Given the description of an element on the screen output the (x, y) to click on. 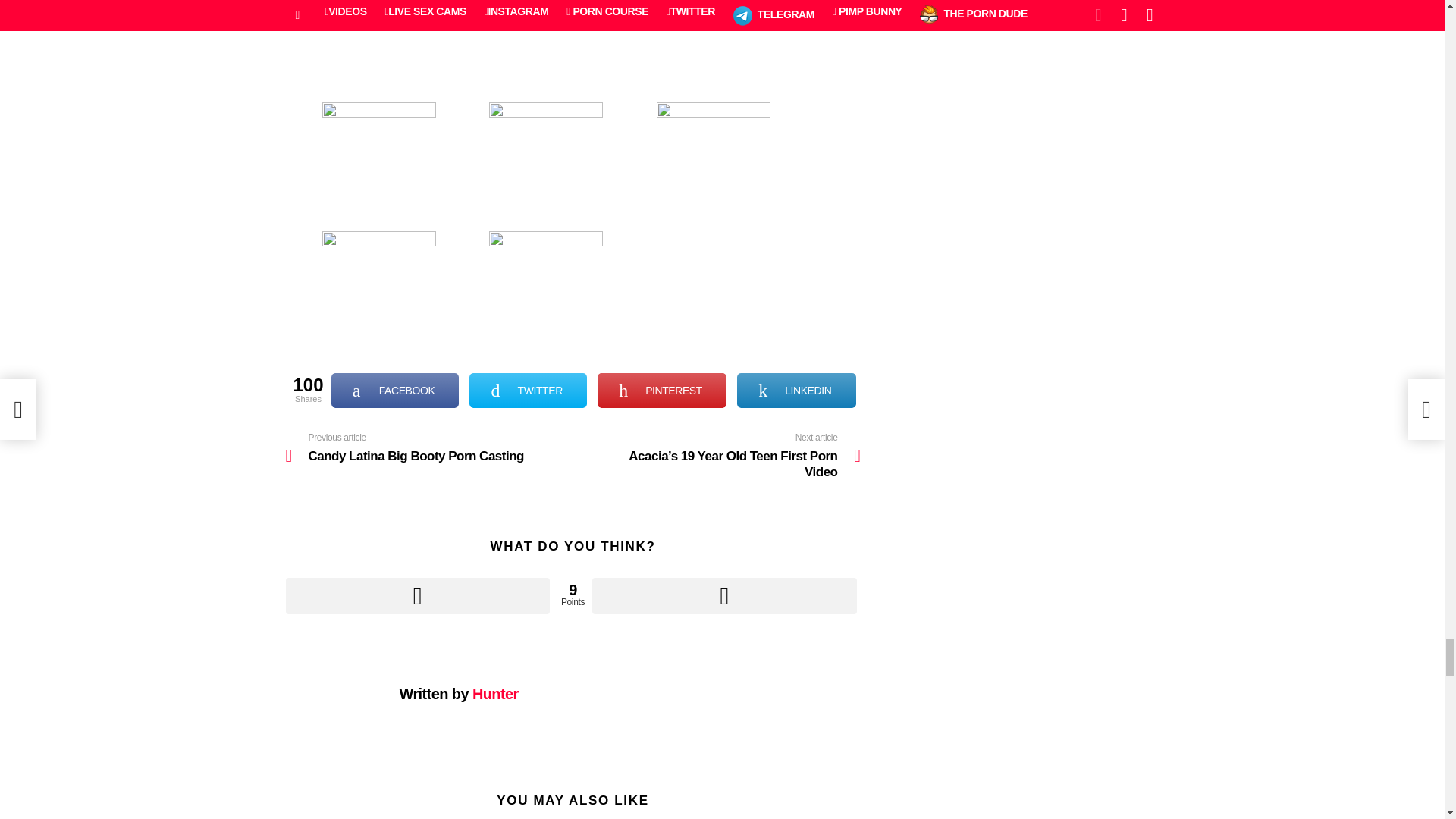
Share on Facebook (395, 390)
Upvote (416, 596)
Share on Twitter (527, 390)
Share on Pinterest (661, 390)
Share on LinkedIn (796, 390)
